Given the description of an element on the screen output the (x, y) to click on. 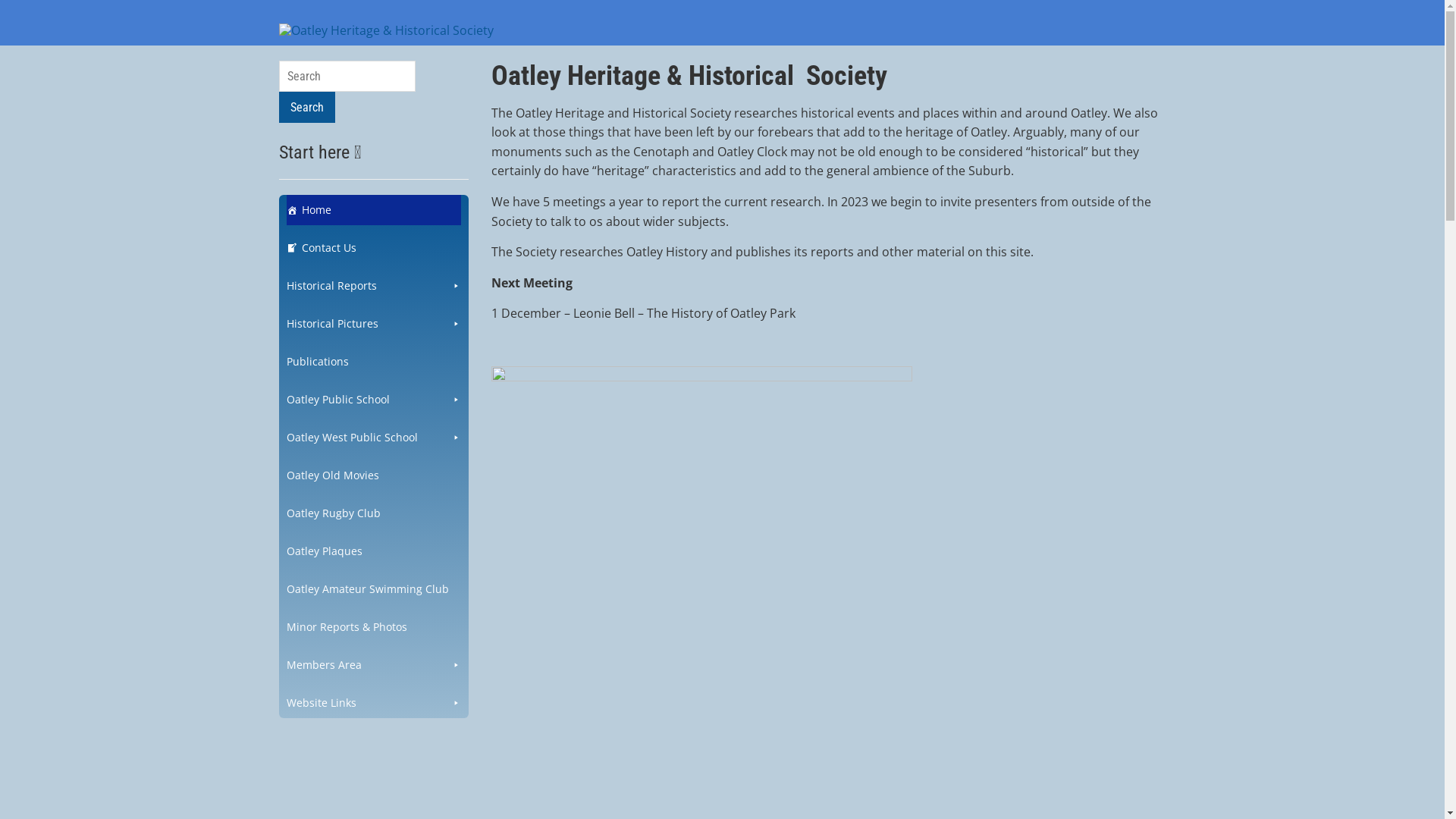
Oatley Public School Element type: text (373, 399)
Oatley Heritage & Historical Society -  Element type: hover (386, 29)
Oatley Plaques Element type: text (373, 551)
Contact Us Element type: text (373, 247)
Home Element type: text (373, 209)
Historical Pictures Element type: text (373, 323)
Oatley Old Movies Element type: text (373, 475)
Search Element type: text (307, 106)
Oatley Rugby Club Element type: text (373, 513)
Members Area Element type: text (373, 664)
Website Links Element type: text (373, 702)
Oatley Amateur Swimming Club Element type: text (373, 589)
Minor Reports & Photos Element type: text (373, 626)
Publications Element type: text (373, 361)
Oatley West Public School Element type: text (373, 437)
Historical Reports Element type: text (373, 285)
